Given the description of an element on the screen output the (x, y) to click on. 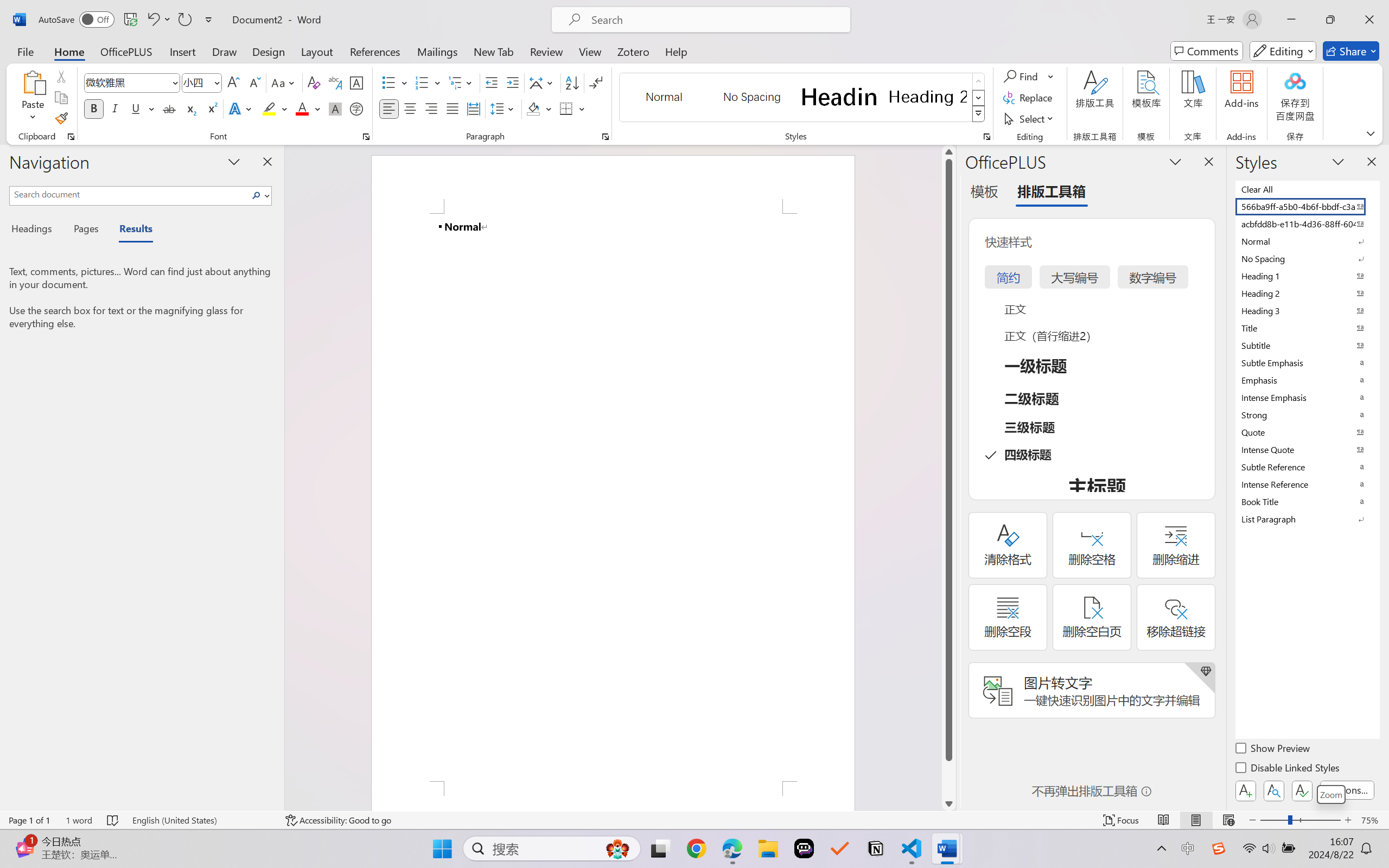
Zoom Out (1273, 819)
Class: NetUIScrollBar (948, 477)
Word Count 1 word (78, 819)
Numbering (421, 82)
Cut (60, 75)
Strong (1306, 414)
View (589, 51)
Ribbon Display Options (1370, 132)
Styles... (986, 136)
Mode (1283, 50)
Page down (948, 778)
